Given the description of an element on the screen output the (x, y) to click on. 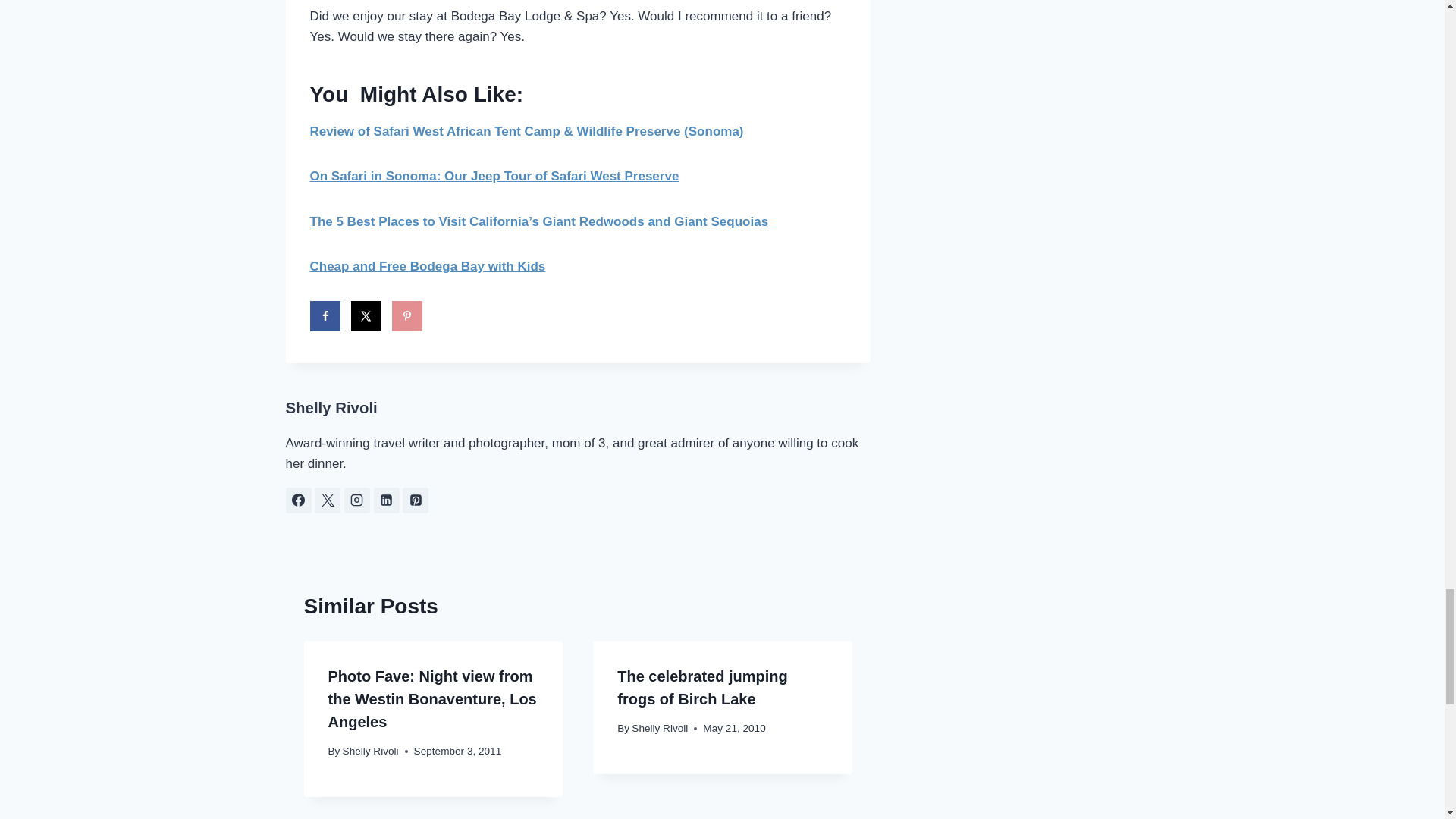
Cheap and Free Bodega Bay with Kids (426, 266)
Save to Pinterest (406, 316)
Follow Shelly Rivoli on X formerly Twitter (327, 500)
Share on X (365, 316)
Follow Shelly Rivoli on Facebook (298, 500)
Share on Facebook (323, 316)
On Safari in Sonoma: Our Jeep Tour of Safari West Preserve (493, 175)
